Given the description of an element on the screen output the (x, y) to click on. 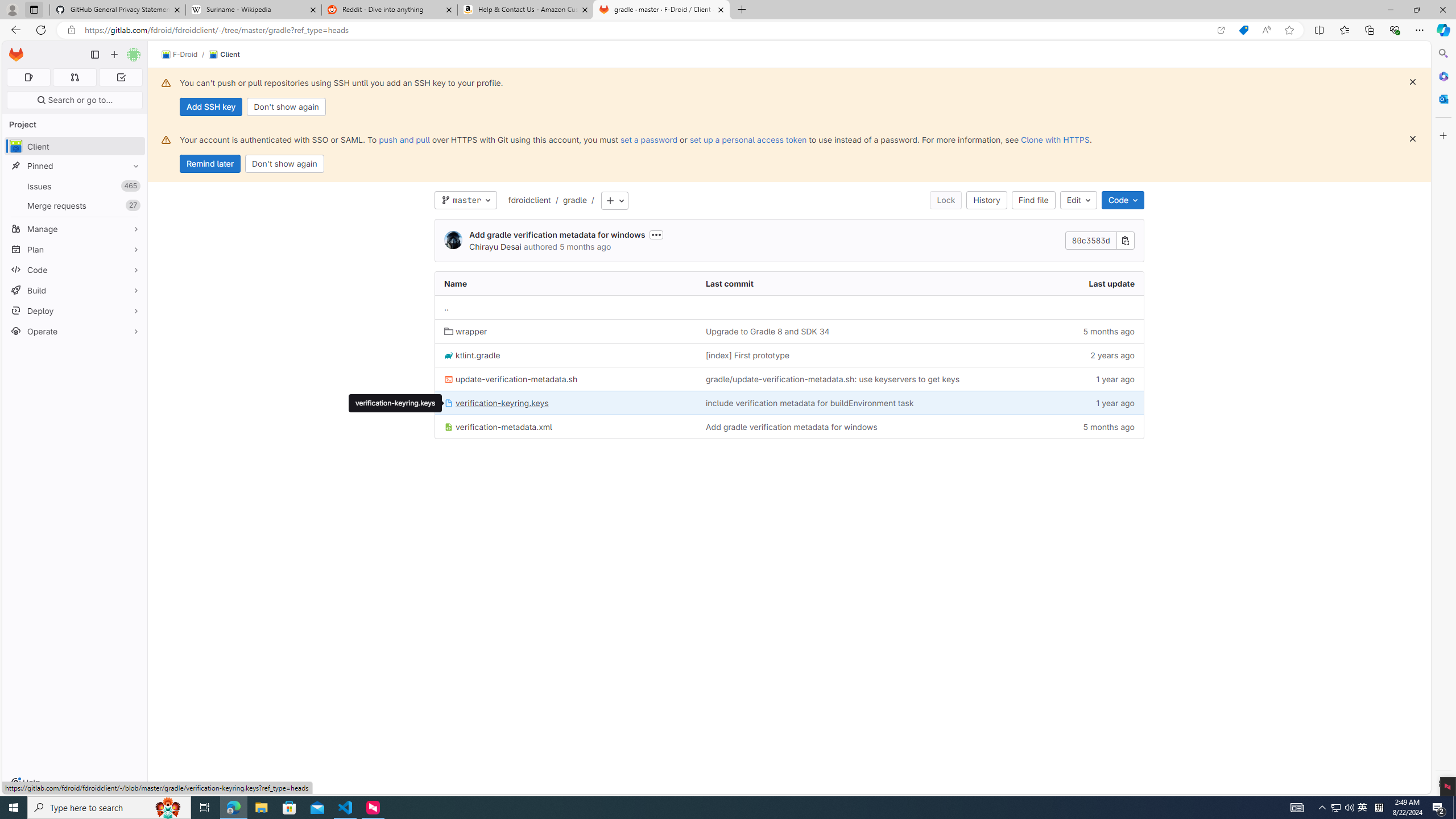
Plan (74, 248)
push and pull (403, 139)
Primary navigation sidebar (94, 54)
